Given the description of an element on the screen output the (x, y) to click on. 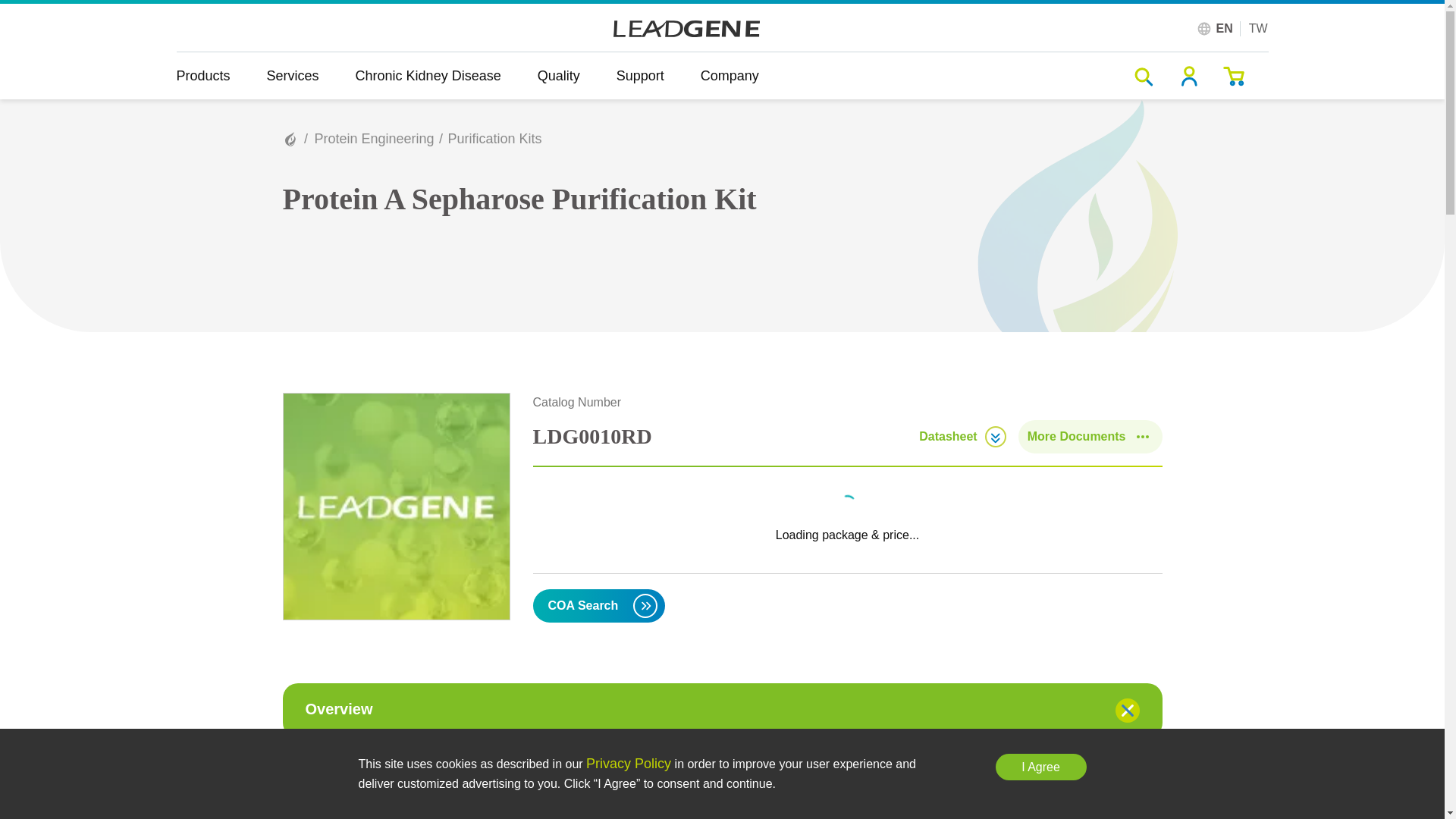
Datasheet (962, 436)
LEADGENE (685, 28)
Products (211, 75)
TW (1258, 28)
Services (292, 75)
More Documents (1089, 436)
COA Search (598, 605)
EN (1224, 28)
